Given the description of an element on the screen output the (x, y) to click on. 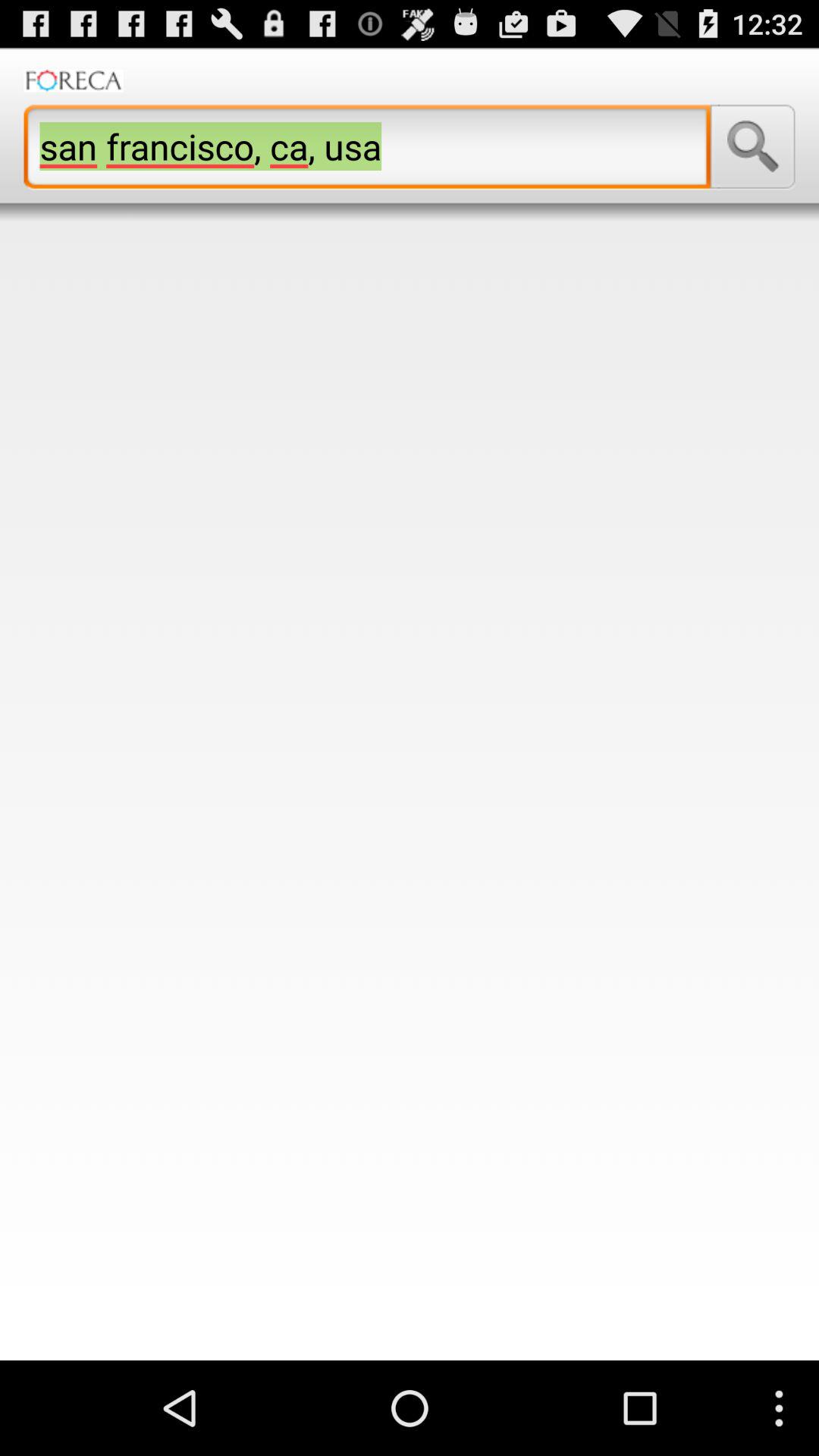
launch icon at the top right corner (752, 146)
